Given the description of an element on the screen output the (x, y) to click on. 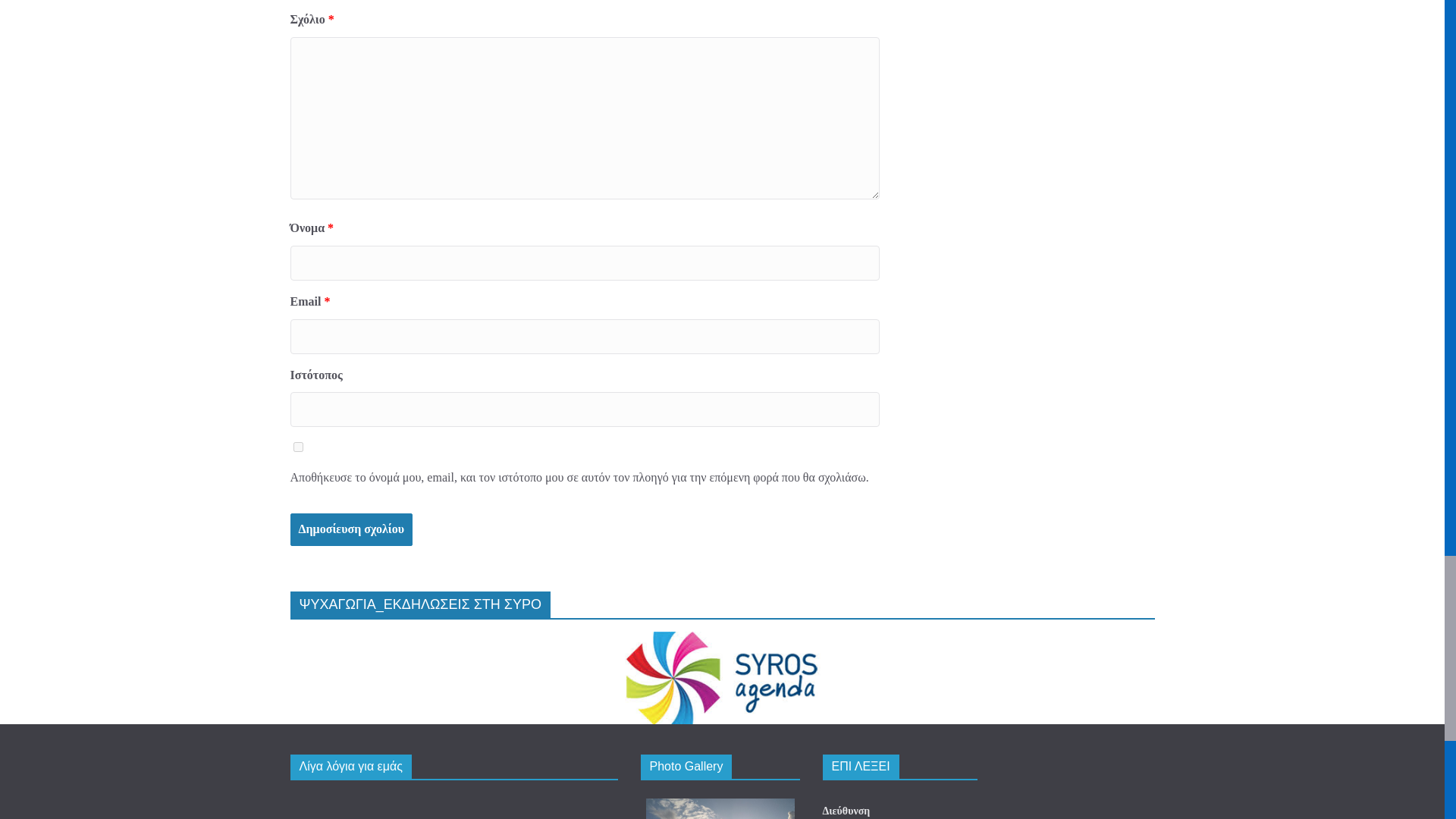
yes (297, 447)
